Given the description of an element on the screen output the (x, y) to click on. 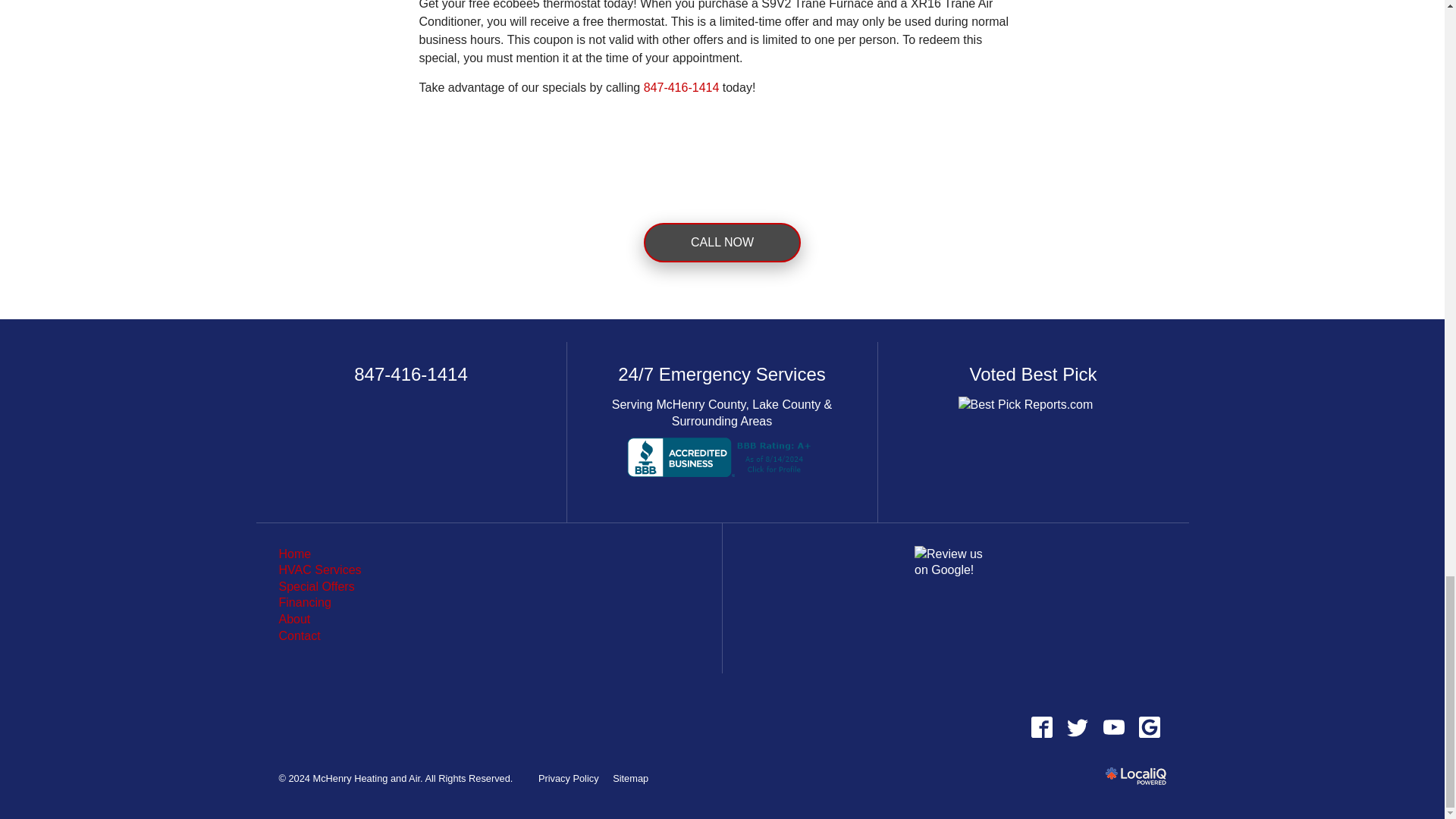
youtube (1113, 727)
google (1149, 727)
twitter (1077, 727)
facebook (1041, 727)
